Given the description of an element on the screen output the (x, y) to click on. 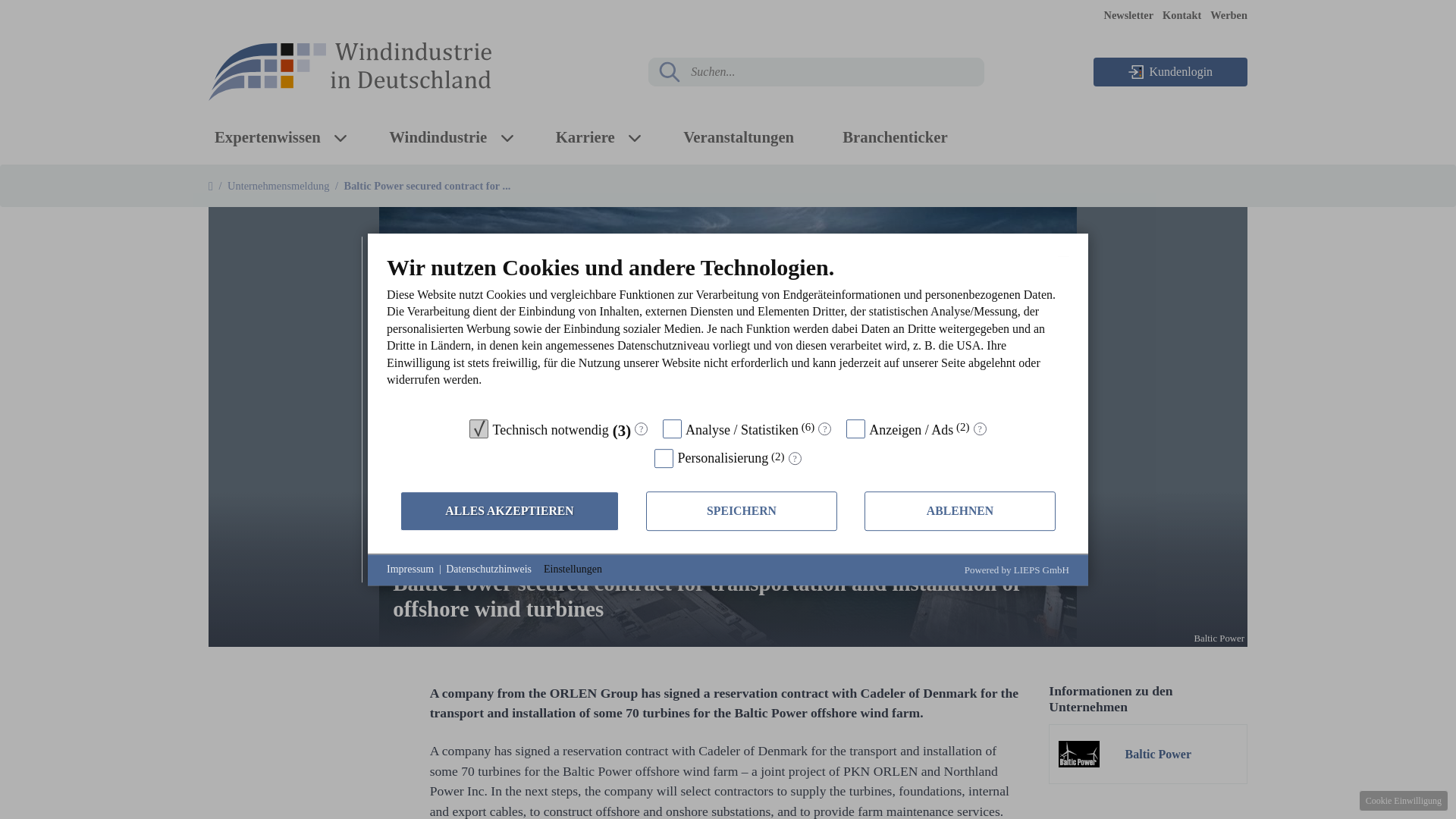
Details (824, 429)
Expertenwissen (267, 136)
Veranstaltungen (738, 136)
Baltic Power (1158, 753)
Details (640, 429)
Kundenlogin (1170, 71)
UNTERNEHMENSMELDUNG (473, 548)
Unternehmensmeldung (278, 185)
Newsletter (1128, 15)
Karriere (585, 136)
Windindustrie (437, 136)
Branchenticker (894, 136)
Details (795, 459)
Cookie Einwilligung (1403, 800)
